Given the description of an element on the screen output the (x, y) to click on. 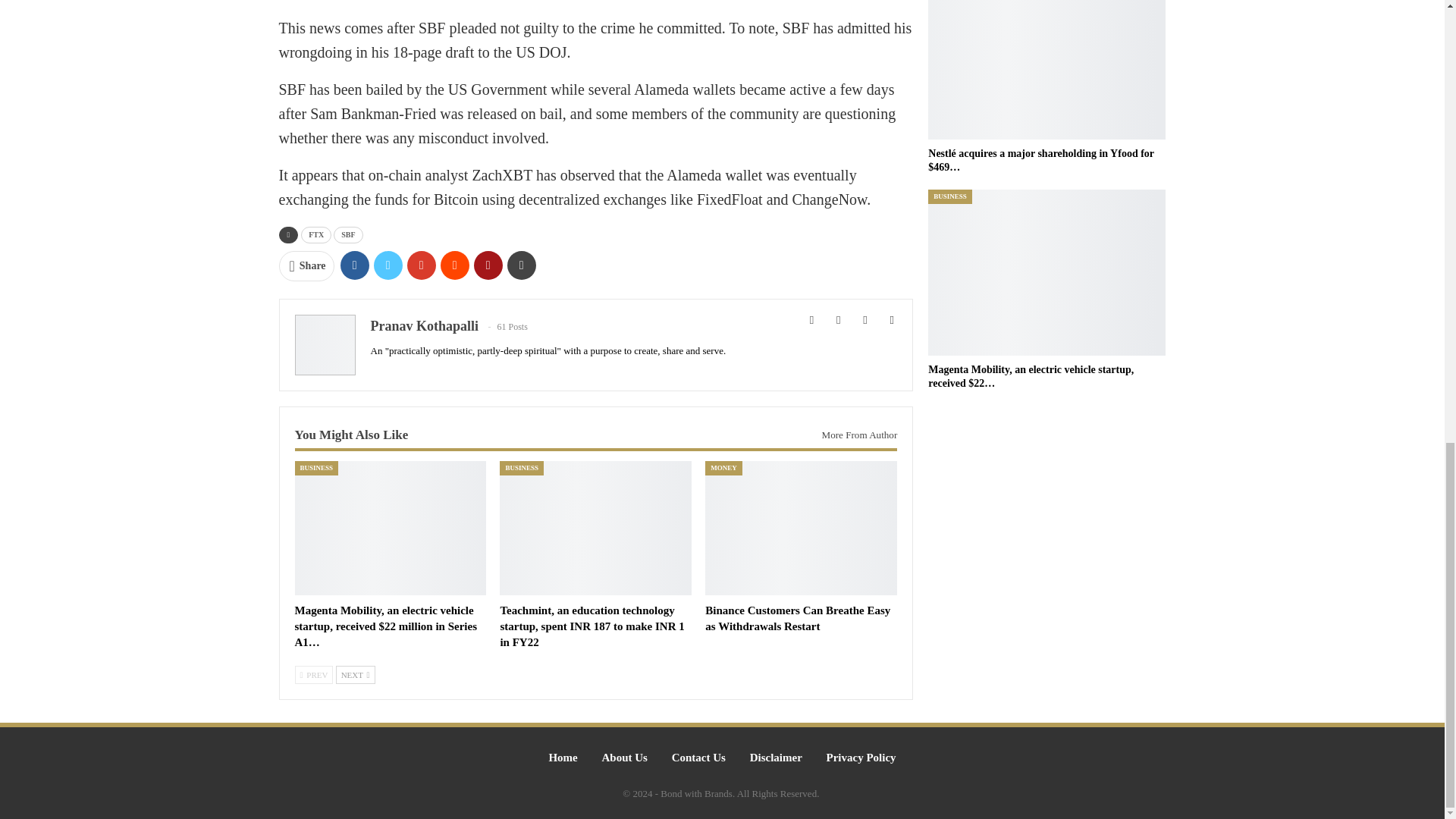
Previous (313, 674)
Binance Customers Can Breathe Easy as Withdrawals Restart (800, 528)
Binance Customers Can Breathe Easy as Withdrawals Restart (796, 618)
